Given the description of an element on the screen output the (x, y) to click on. 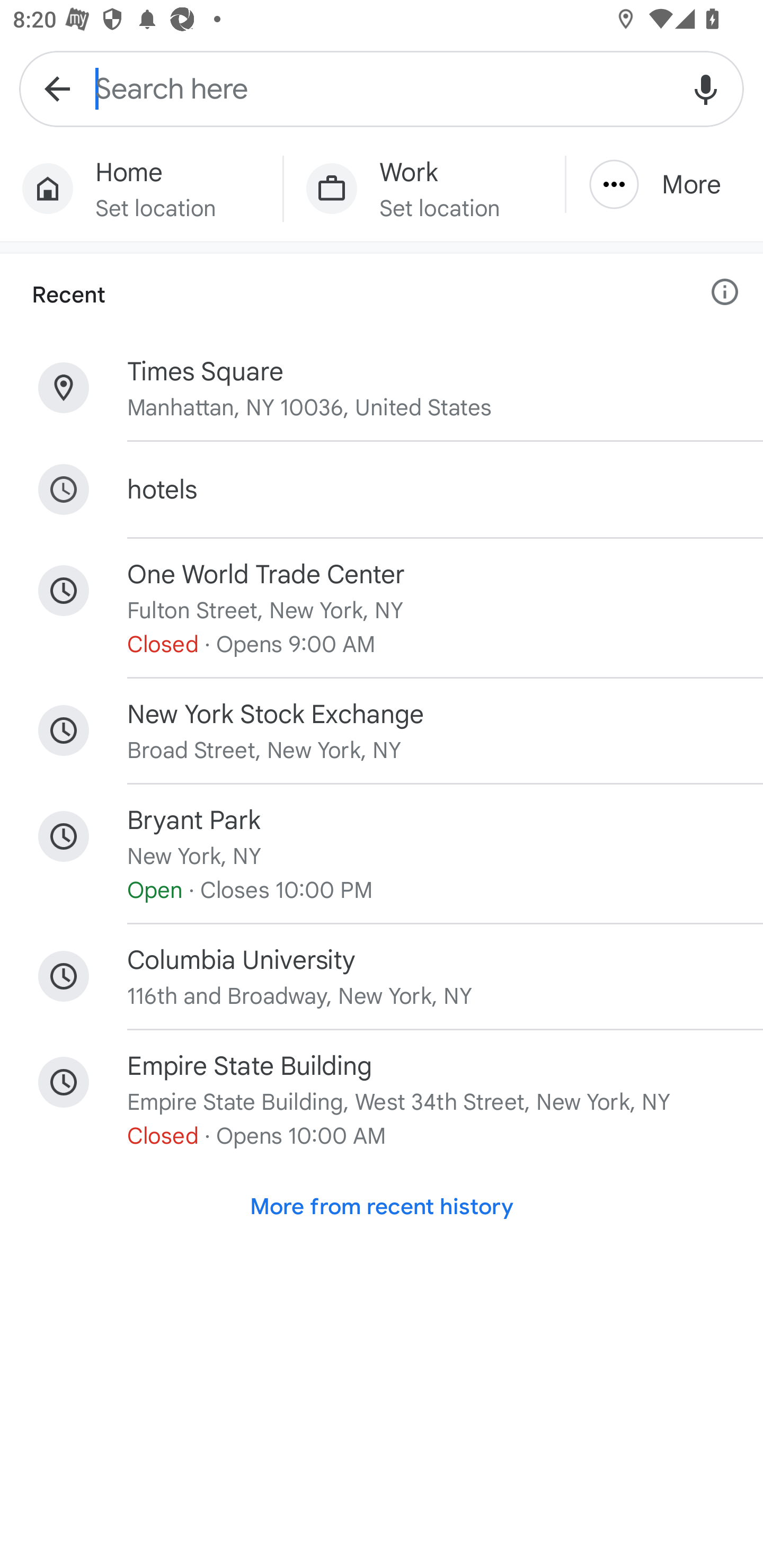
Navigate up (57, 88)
Search here (381, 88)
Voice search (705, 88)
Home Set location (141, 188)
Work Set location (423, 188)
More (664, 184)
Times Square Manhattan, NY 10036, United States (381, 387)
hotels (381, 489)
New York Stock Exchange Broad Street, New York, NY (381, 730)
Bryant Park New York, NY Open · Closes 10:00 PM (381, 853)
More from recent history (381, 1206)
